Given the description of an element on the screen output the (x, y) to click on. 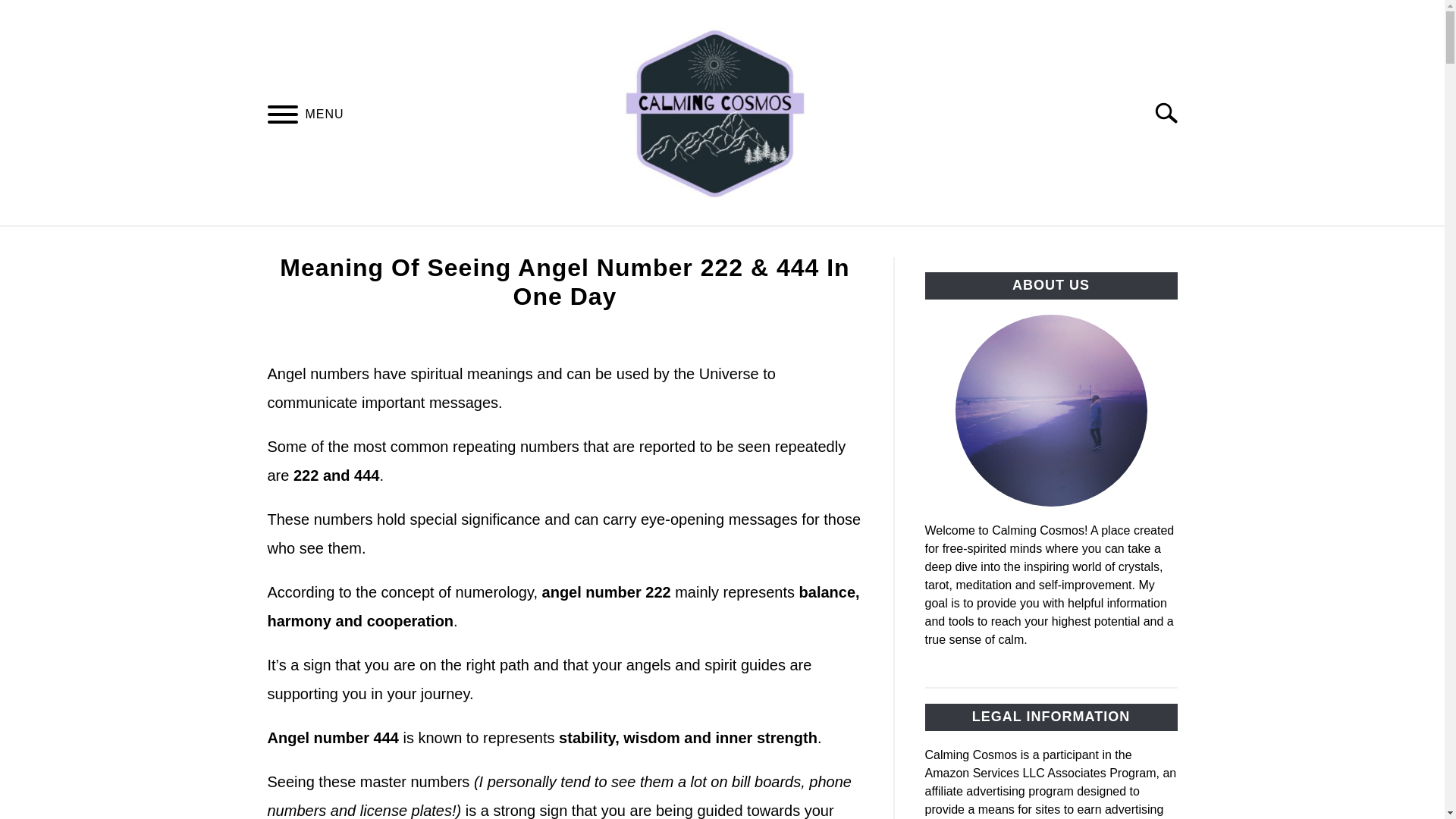
Search (1172, 112)
MENU (282, 116)
